Given the description of an element on the screen output the (x, y) to click on. 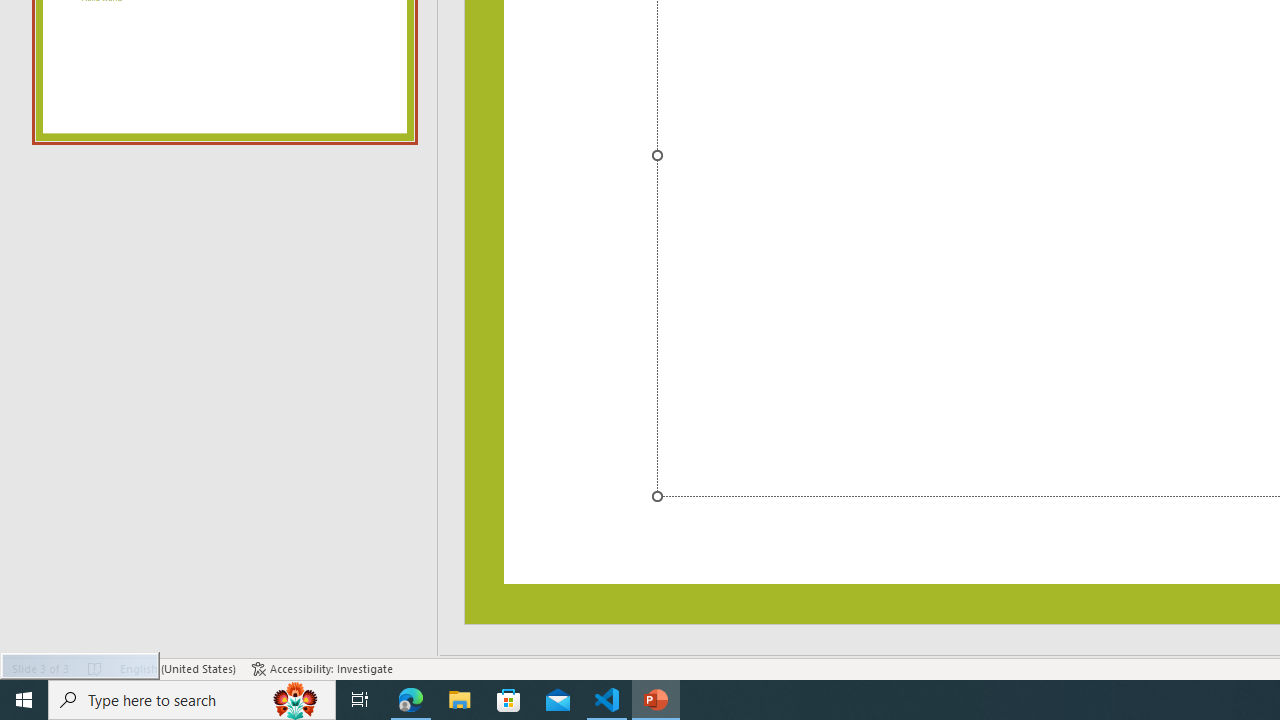
Accessibility Checker Accessibility: Investigate (322, 668)
Spell Check No Errors (95, 668)
